Given the description of an element on the screen output the (x, y) to click on. 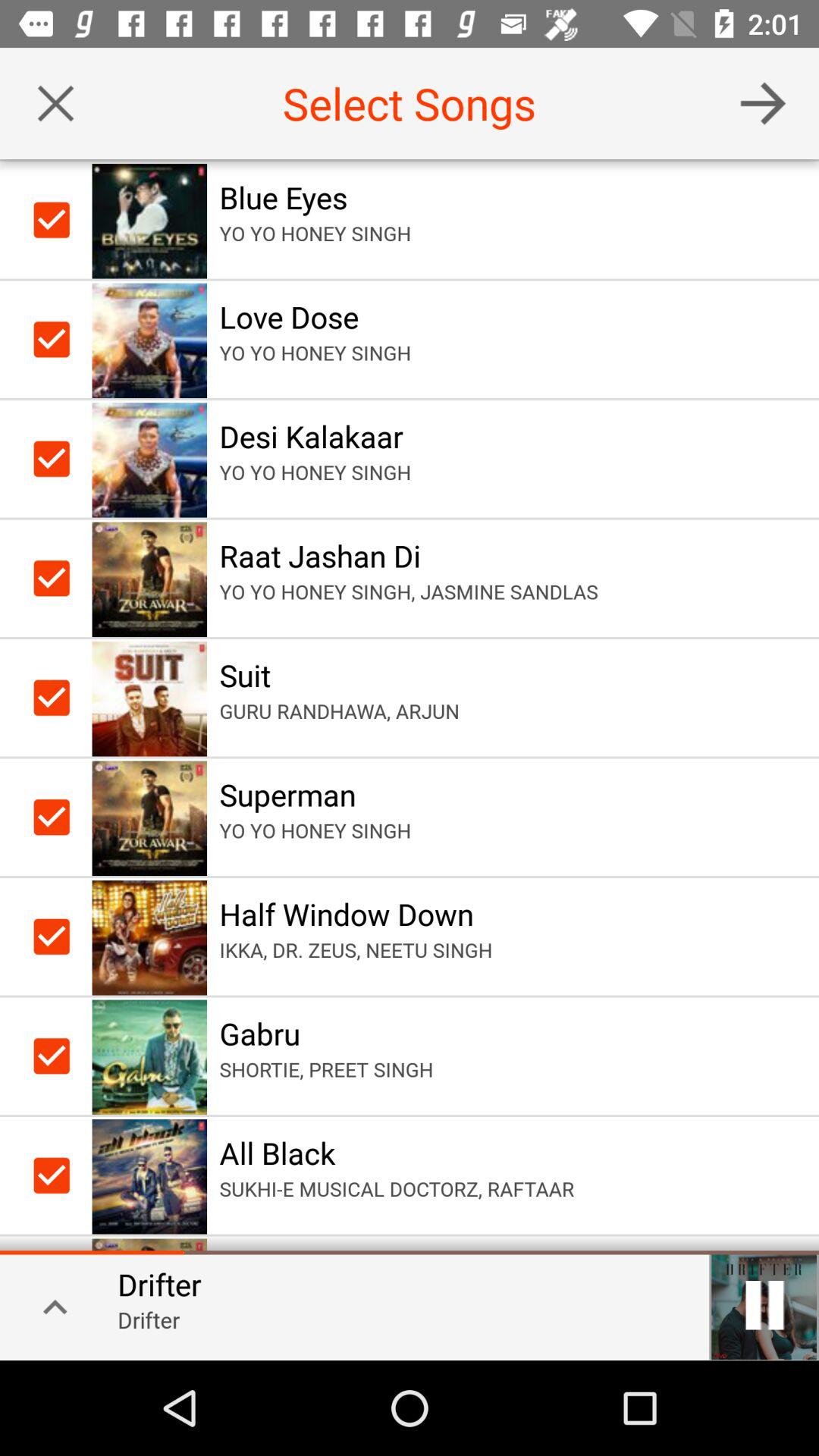
close page (55, 103)
